Given the description of an element on the screen output the (x, y) to click on. 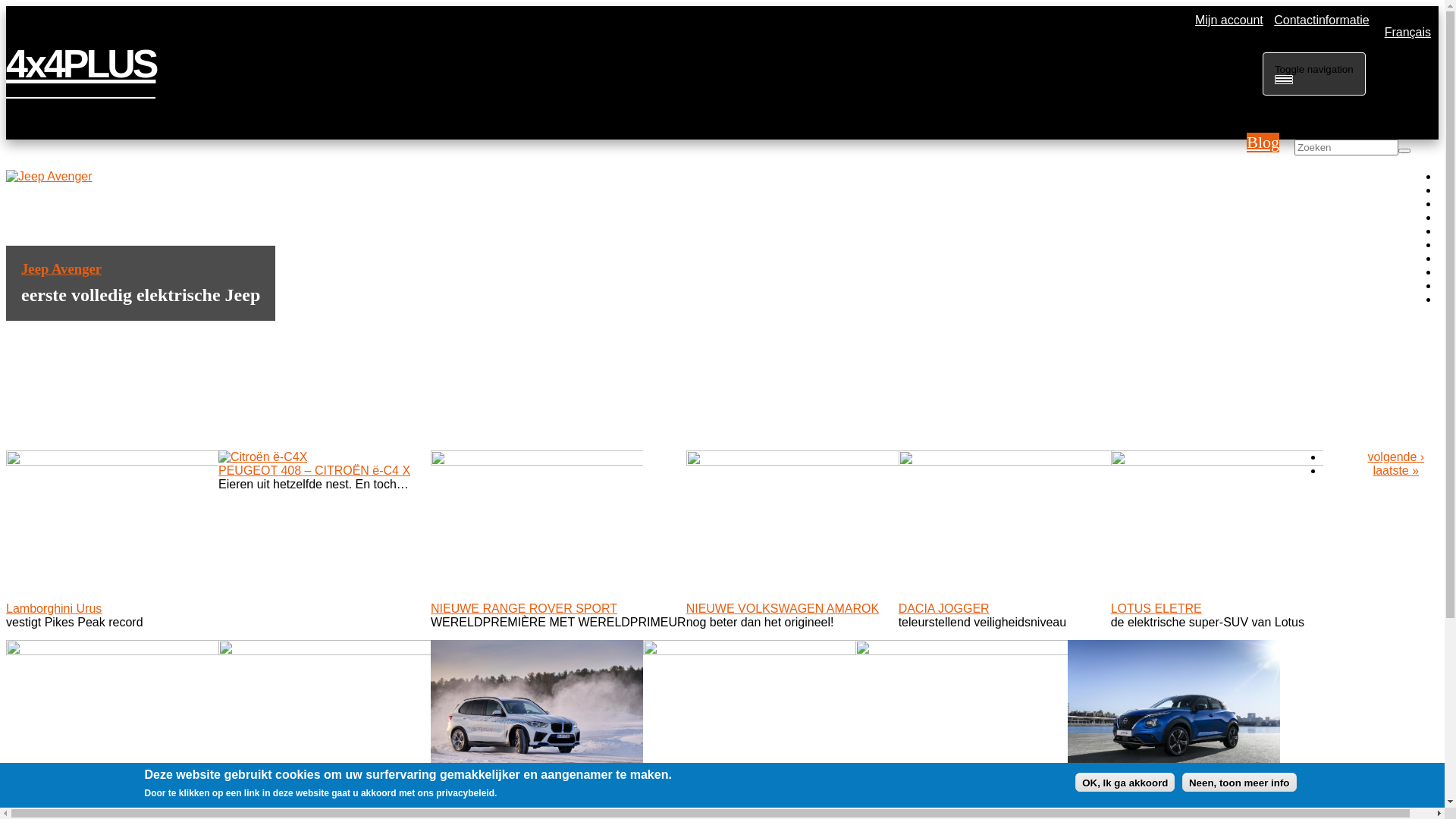
Toggle navigation Element type: text (1313, 73)
MASERATI GRECALE Element type: text (67, 797)
Contactinformatie Element type: text (1317, 20)
Lamborghini Urus Element type: text (53, 608)
DACIA JOGGER Element type: text (943, 608)
NIEUWE RANGE ROVER SPORT Element type: text (523, 608)
OK, Ik ga akkoord Element type: text (1124, 781)
BMW iX5 Hydrogen Element type: text (483, 800)
NIEUWE VOLKSWAGEN AMAROK Element type: text (782, 608)
Zoeken Element type: text (1295, 156)
4x4 Event Element type: text (245, 797)
LOTUS ELETRE Element type: text (1155, 608)
Blog Element type: text (1262, 141)
Jeep Avenger Element type: text (61, 268)
4x4PLUS Element type: text (80, 64)
NISSAN JUKE HYBRID Element type: text (1131, 800)
Overslaan en naar de inhoud gaan Element type: text (6, 6)
Nieuwe Mazda CX-60 PHEV Element type: text (720, 797)
Mijn account Element type: text (1225, 20)
Geef de woorden op waarnaar u wilt zoeken. Element type: hover (1346, 147)
Neen, toon meer info Element type: text (1239, 781)
